Given the description of an element on the screen output the (x, y) to click on. 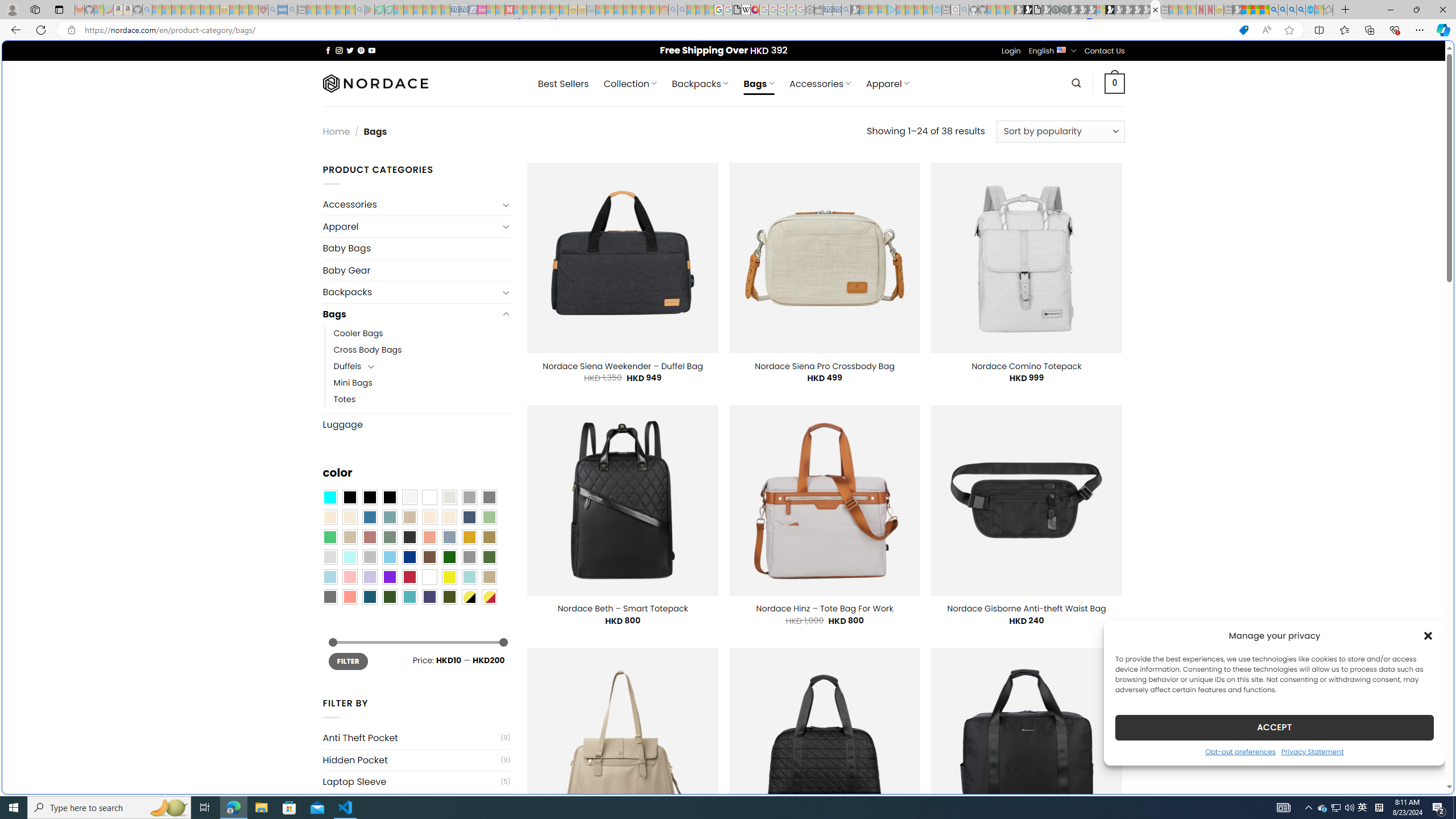
Hale Navy (468, 517)
Sky Blue (389, 557)
Follow on YouTube (371, 49)
Backpacks (410, 292)
Clear (429, 497)
Gold (468, 536)
Laptop Sleeve (410, 781)
Khaki (488, 577)
Privacy Statement (1312, 750)
